Given the description of an element on the screen output the (x, y) to click on. 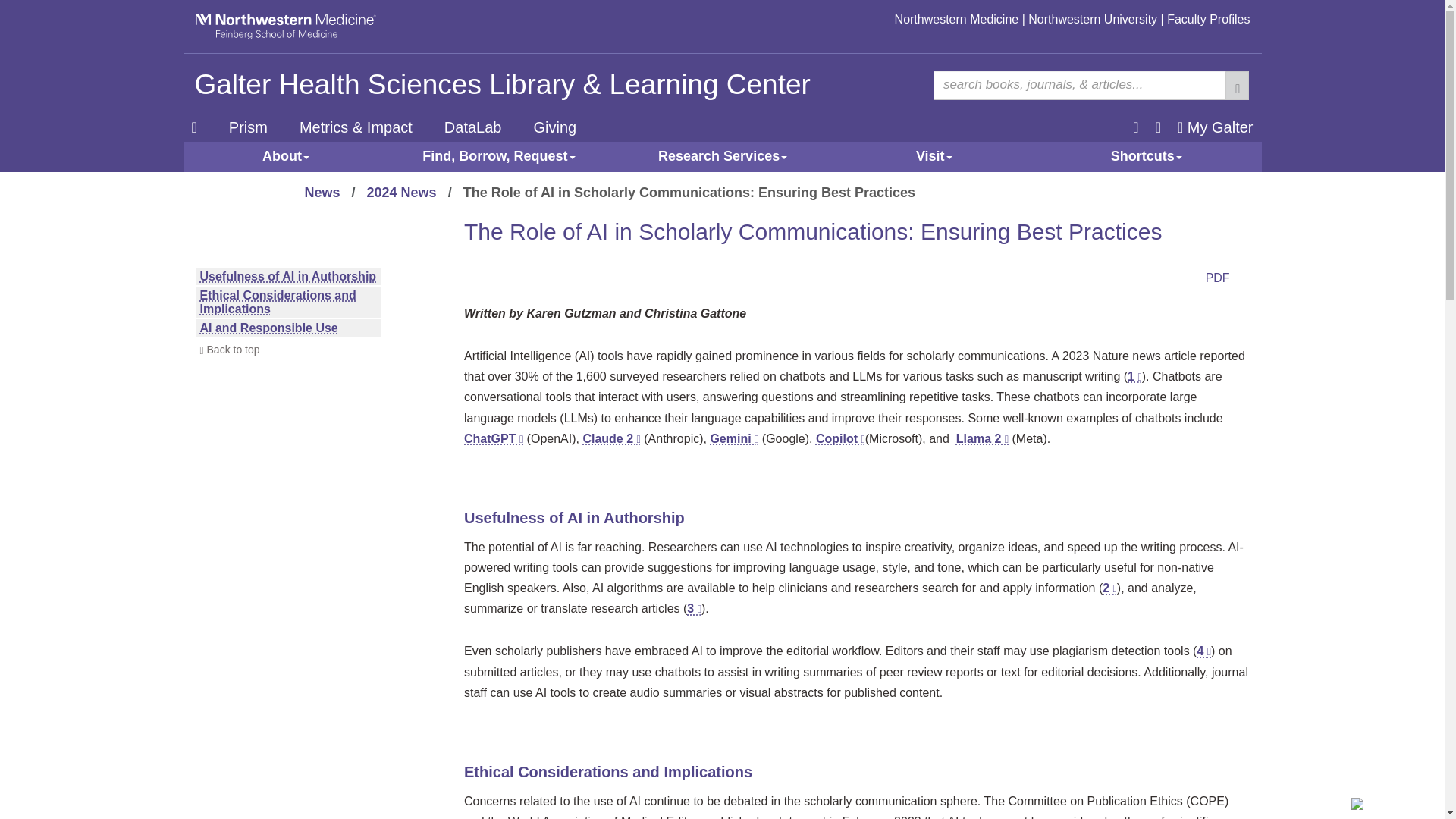
Prism (248, 126)
Find, Borrow, Request (498, 156)
My Galter (1215, 126)
Northwestern Medicine (957, 19)
Giving (554, 126)
DataLab (473, 126)
Faculty Profiles (1208, 19)
Northwestern University (1092, 19)
About (285, 156)
